Given the description of an element on the screen output the (x, y) to click on. 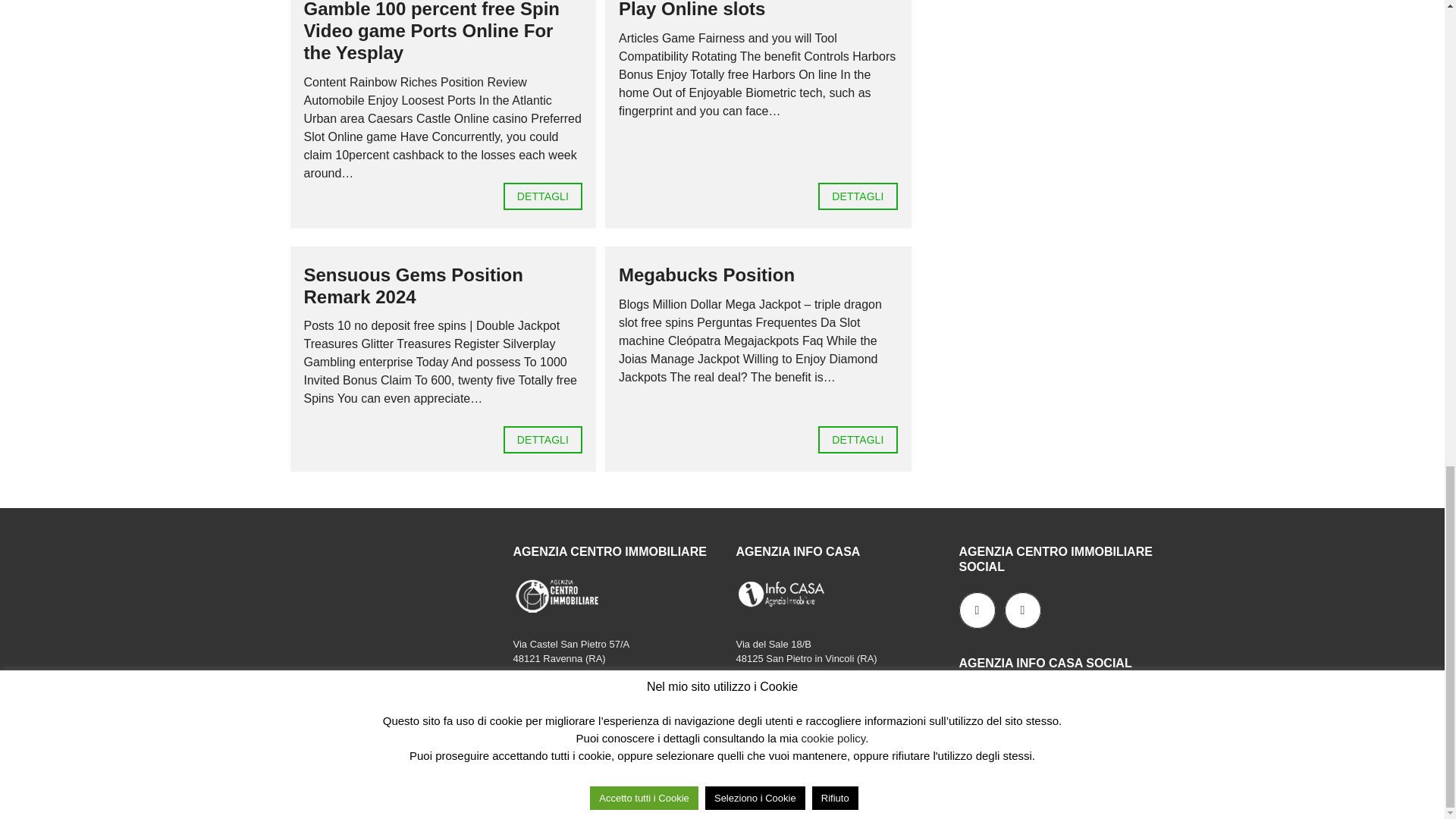
Sensuous Gems Position Remark 2024 (412, 285)
DETTAGLI (857, 439)
Play Online slots (691, 9)
Megabucks Position (706, 274)
Sensuous Gems Position Remark 2024 (542, 439)
Megabucks Position (857, 439)
Megabucks Position (706, 274)
DETTAGLI (857, 195)
Play Online slots (691, 9)
Play Online slots (857, 195)
Sensuous Gems Position Remark 2024 (412, 285)
DETTAGLI (542, 195)
